Given the description of an element on the screen output the (x, y) to click on. 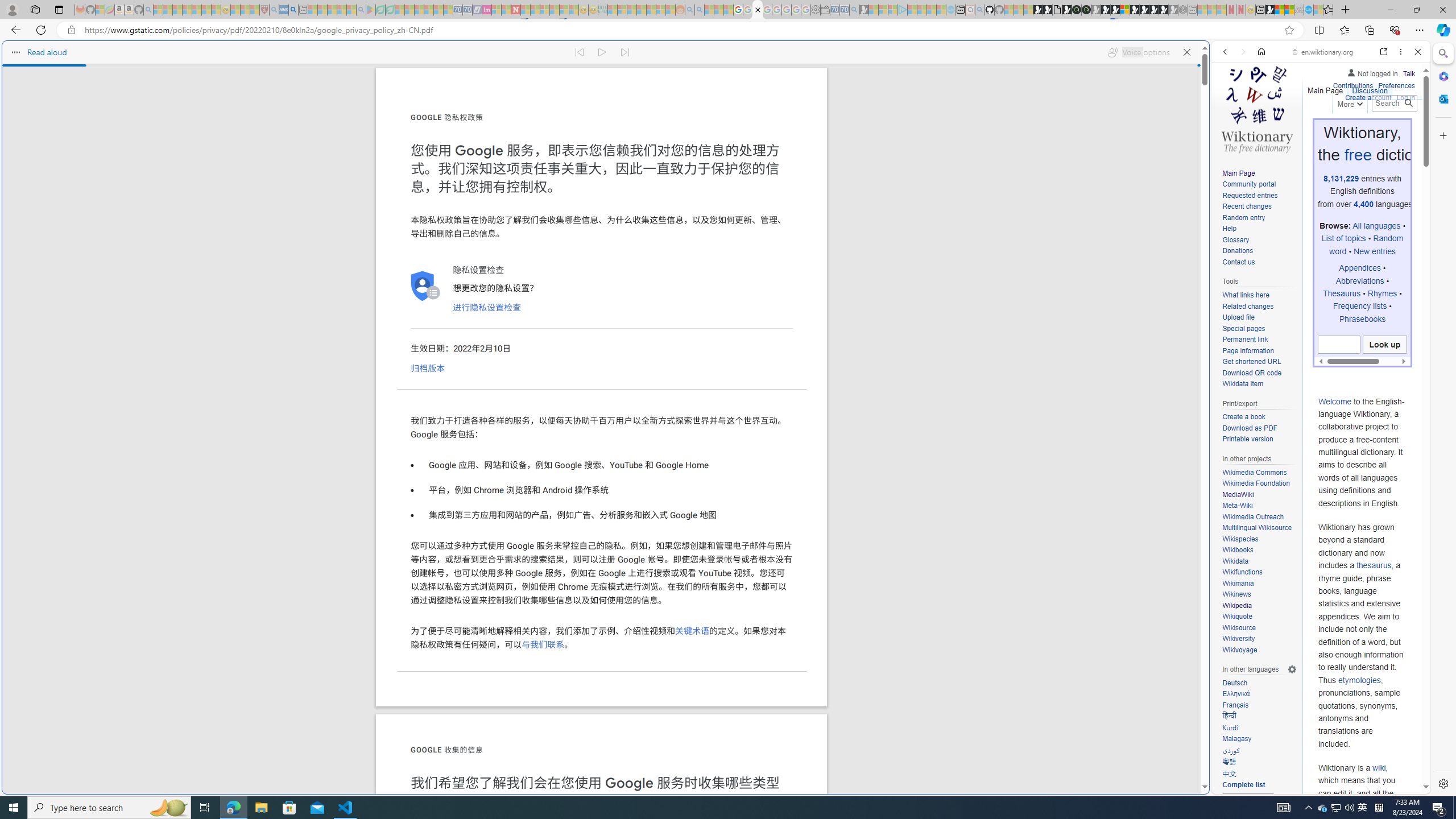
Complete list (1259, 785)
Search Filter, VIDEOS (1300, 129)
Talk (1408, 73)
google - Search - Sleeping (360, 9)
Wikibooks (1237, 550)
Requested entries (1249, 194)
Upload file (1259, 317)
Robert H. Shmerling, MD - Harvard Health - Sleeping (263, 9)
Language settings (1292, 669)
Wikimedia Foundation (1259, 483)
Download as PDF (1259, 428)
Download QR code (1251, 372)
